Given the description of an element on the screen output the (x, y) to click on. 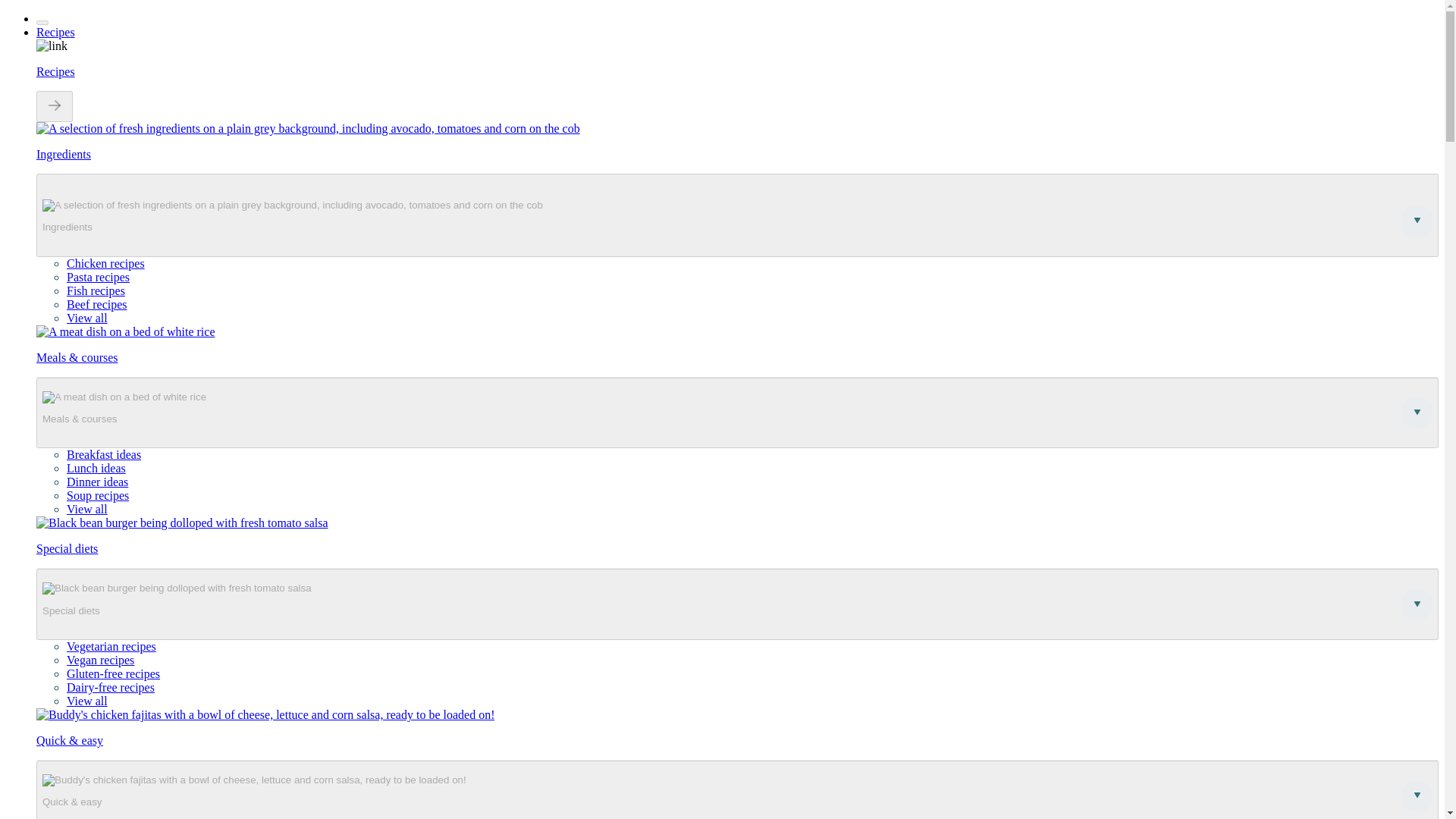
Recipes (55, 31)
Dinner ideas (97, 481)
Vegetarian recipes (110, 645)
Vegan recipes (99, 659)
Gluten-free recipes (113, 673)
Pasta recipes (97, 277)
Lunch ideas (95, 468)
View all (86, 700)
Breakfast ideas (103, 454)
Dairy-free recipes (110, 686)
